Given the description of an element on the screen output the (x, y) to click on. 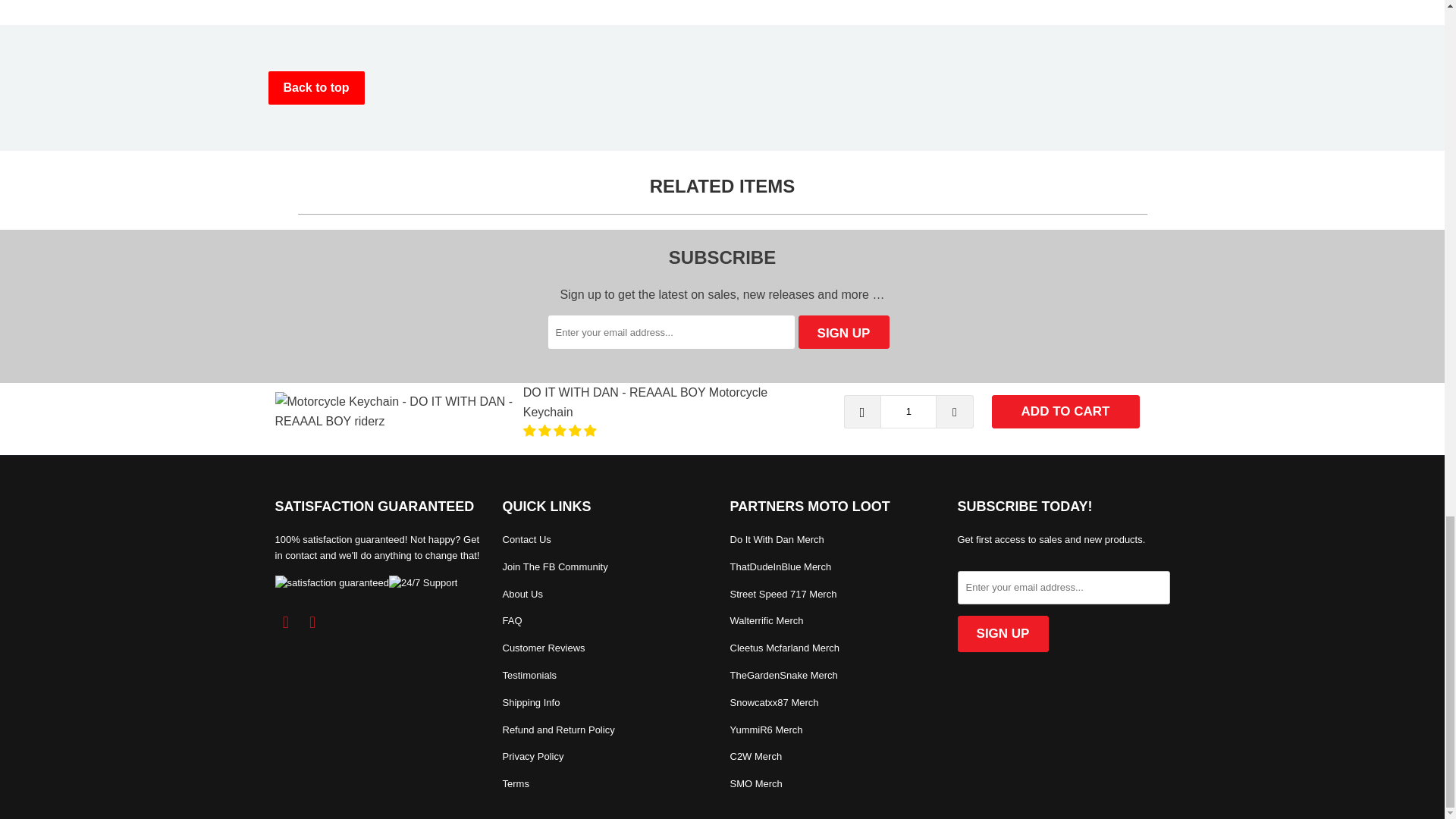
Sign Up (1002, 633)
Sign Up (842, 331)
1 (908, 411)
